Given the description of an element on the screen output the (x, y) to click on. 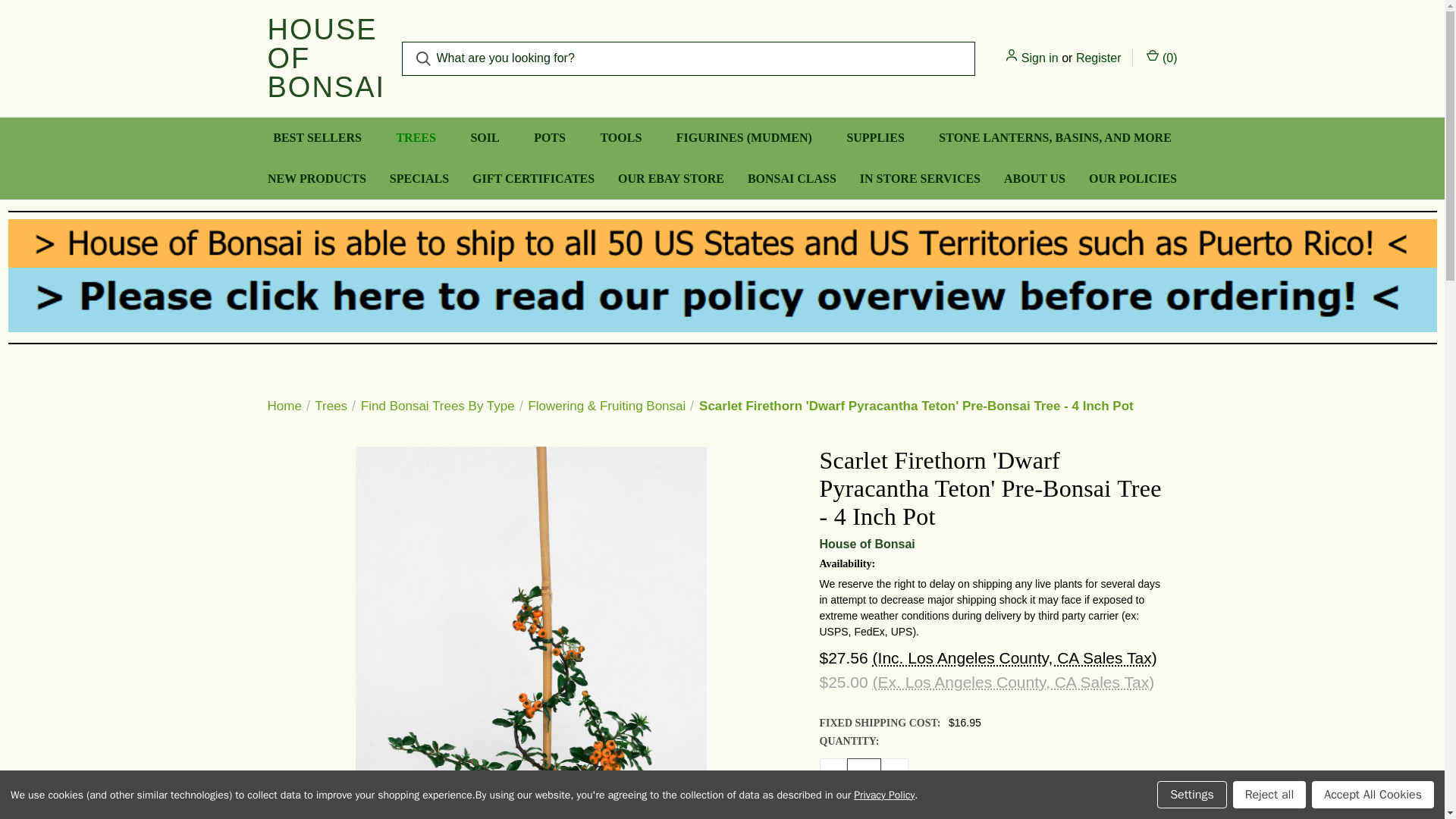
Sign in (1040, 58)
TREES (415, 137)
Including Tax (1014, 657)
Register (1098, 58)
1 (862, 775)
SOIL (484, 137)
BEST SELLERS (317, 137)
HOUSE OF BONSAI (325, 58)
Excluding Tax (1013, 682)
